Given the description of an element on the screen output the (x, y) to click on. 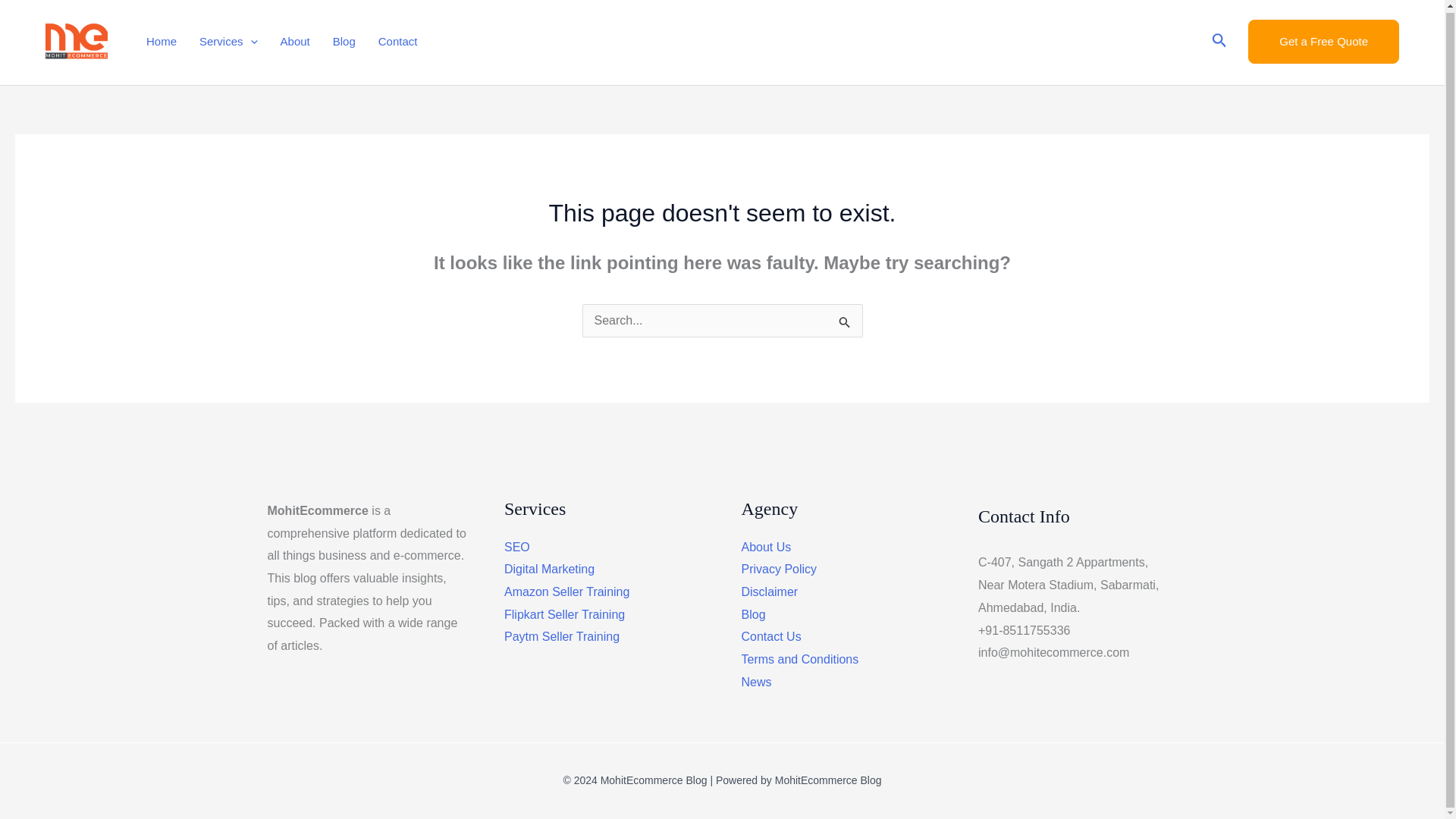
Services (228, 40)
Amazon Seller Training (565, 591)
Blog (753, 614)
Disclaimer (769, 591)
Flipkart Seller Training (563, 614)
Paytm Seller Training (561, 635)
Get a Free Quote (1323, 41)
SEO (516, 546)
Privacy Policy (778, 568)
About Us (766, 546)
